Given the description of an element on the screen output the (x, y) to click on. 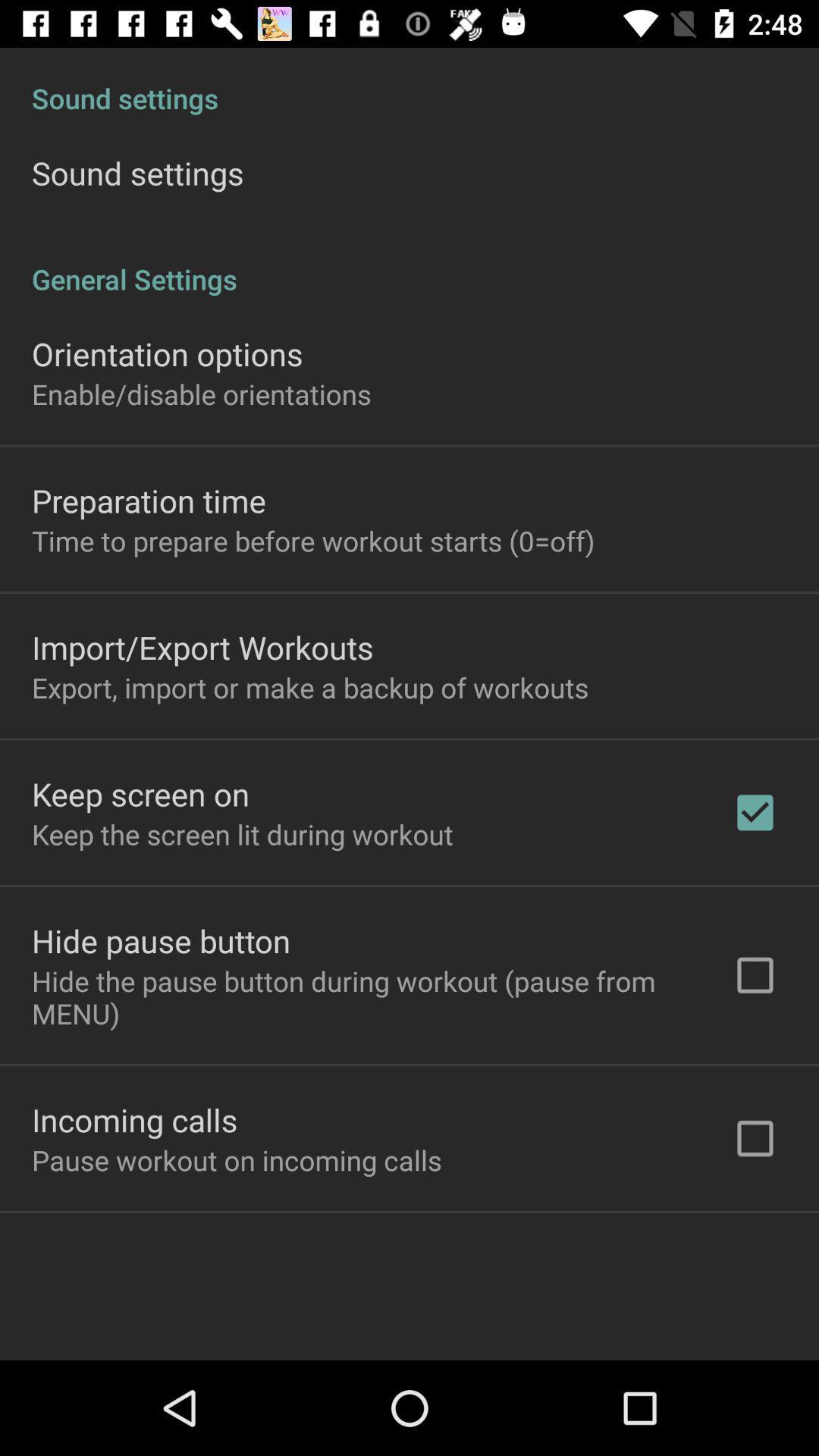
jump to the preparation time item (148, 500)
